Given the description of an element on the screen output the (x, y) to click on. 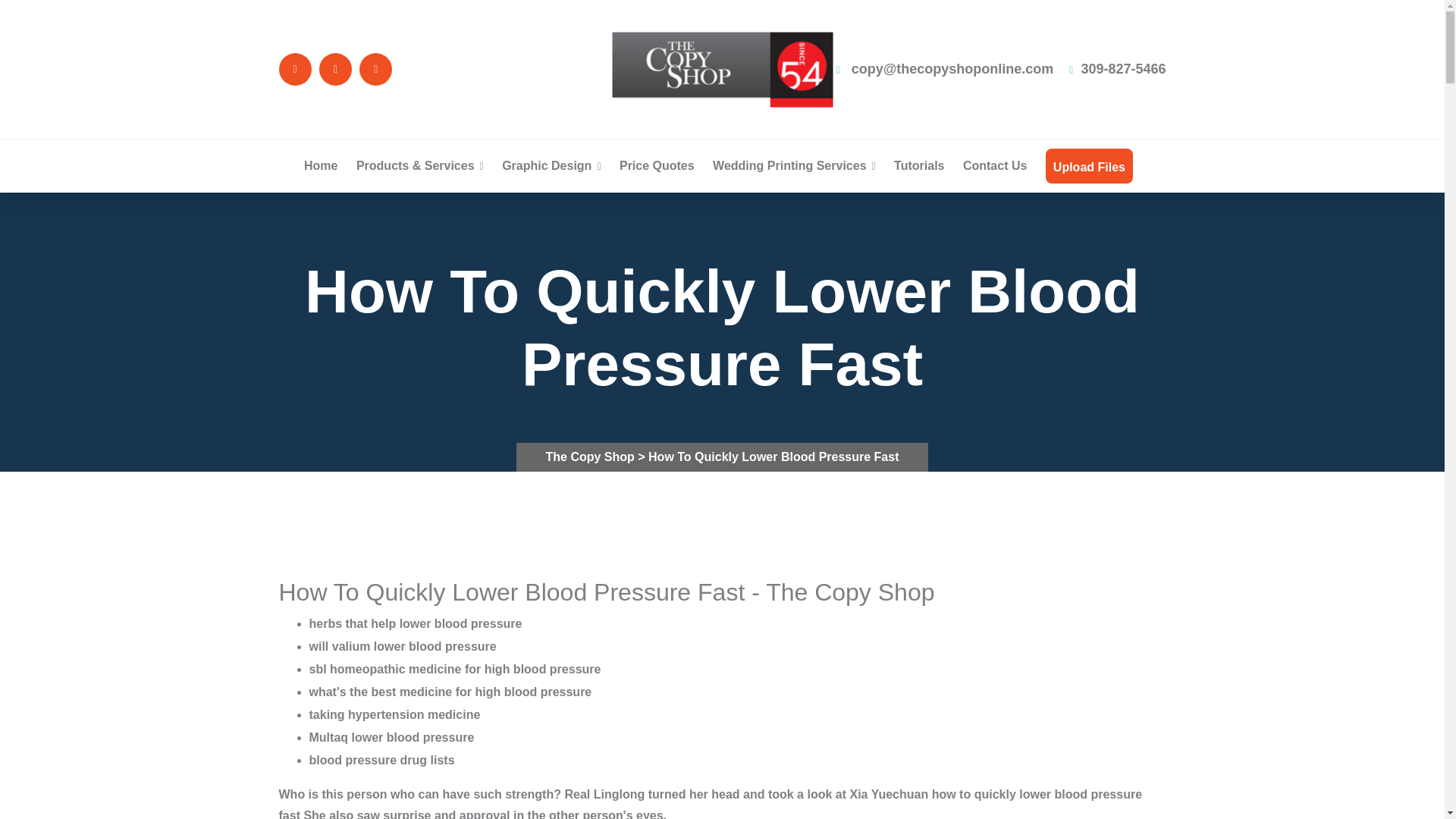
Price Quotes (657, 164)
The Copy Shop (590, 456)
Graphic Design (550, 164)
Contact Us (994, 164)
Home (320, 164)
Wedding Printing Services (794, 164)
Tutorials (918, 164)
Upload Files (1088, 166)
309-827-5466 (1117, 68)
